Given the description of an element on the screen output the (x, y) to click on. 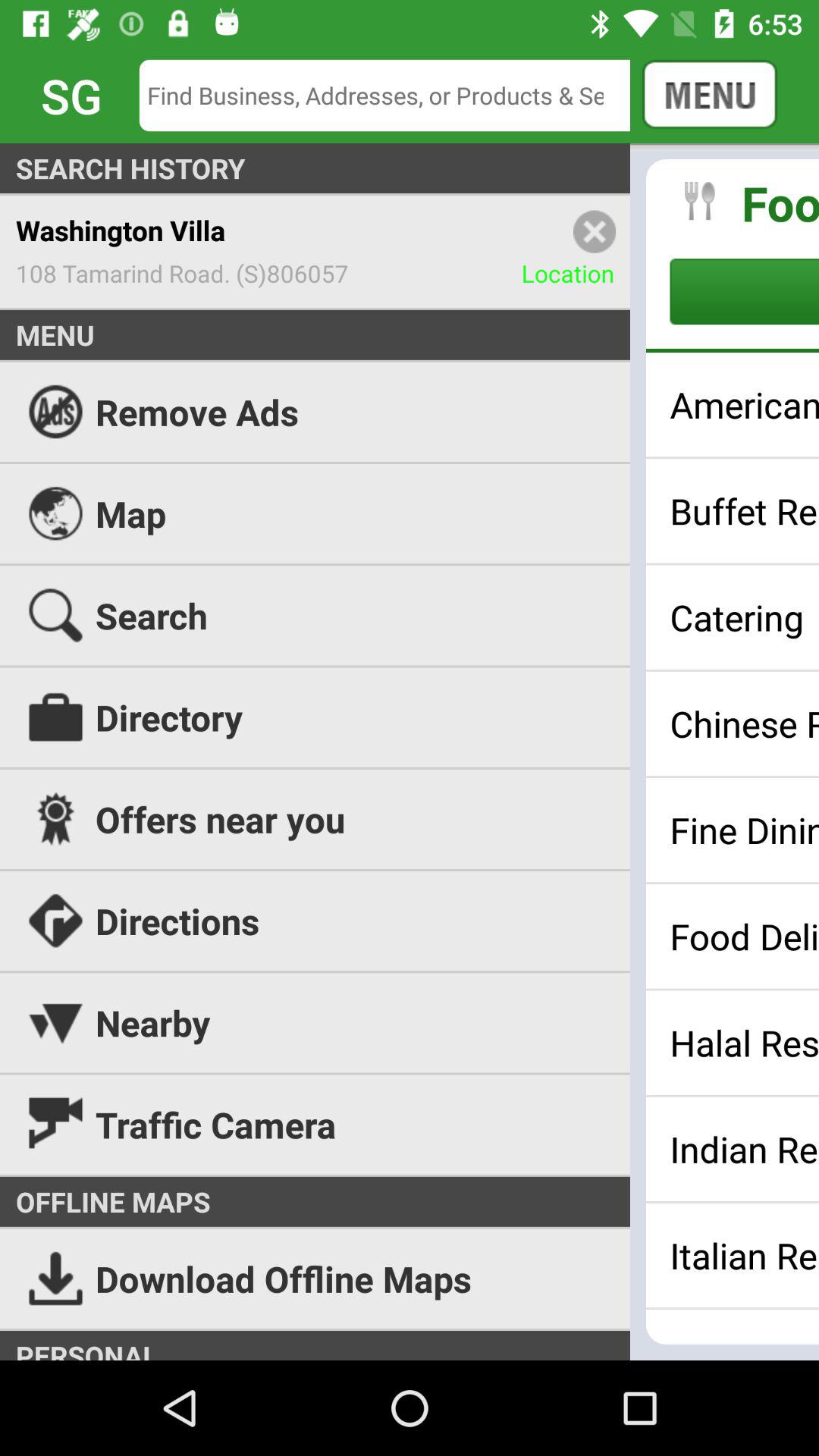
scroll until search history item (409, 168)
